Given the description of an element on the screen output the (x, y) to click on. 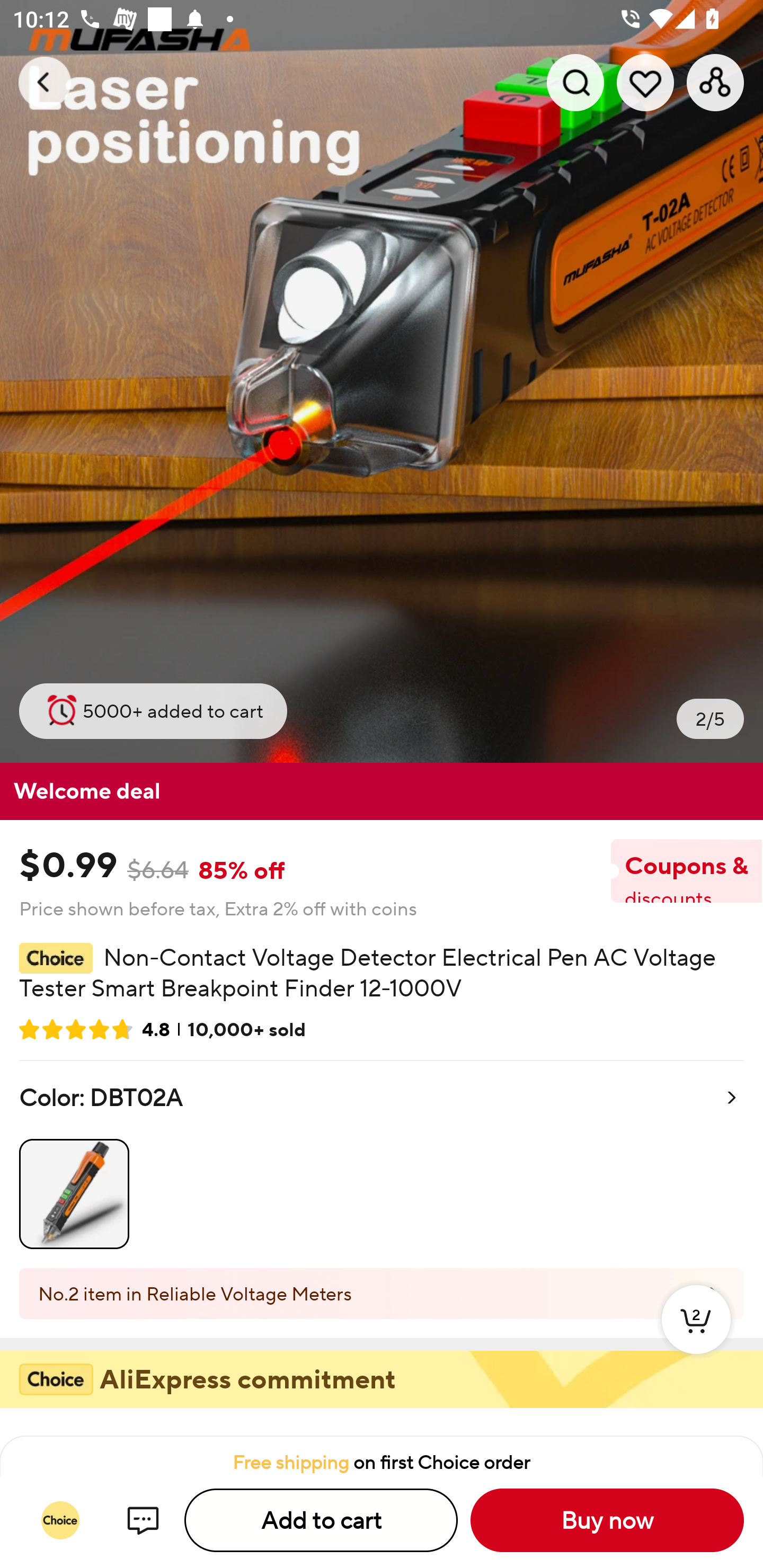
Navigate up (44, 82)
Color: DBT02A  (381, 1164)
2 (695, 1338)
Add to cart (320, 1520)
Buy now (606, 1520)
